Given the description of an element on the screen output the (x, y) to click on. 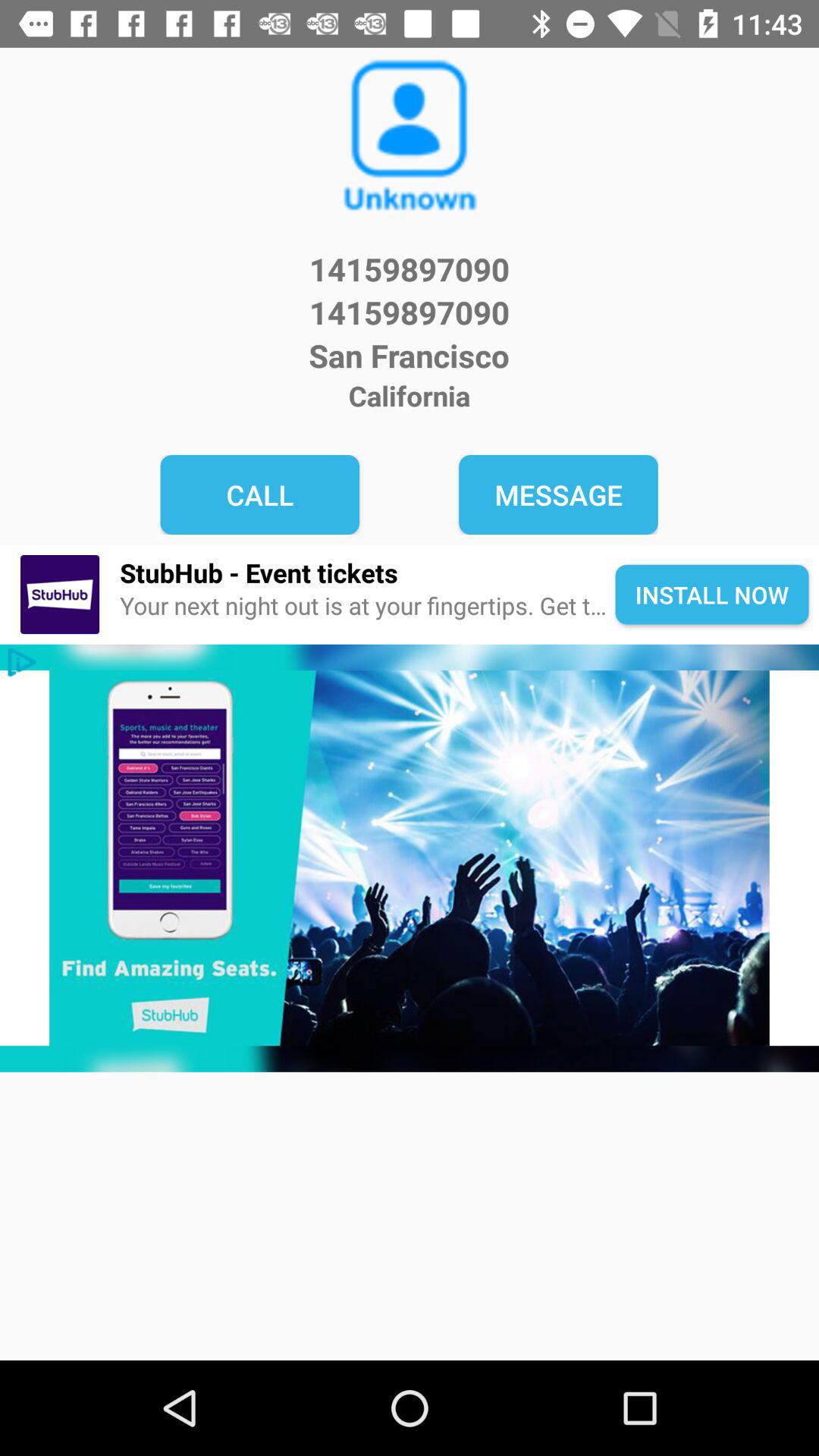
tap to advertisement (409, 857)
